Given the description of an element on the screen output the (x, y) to click on. 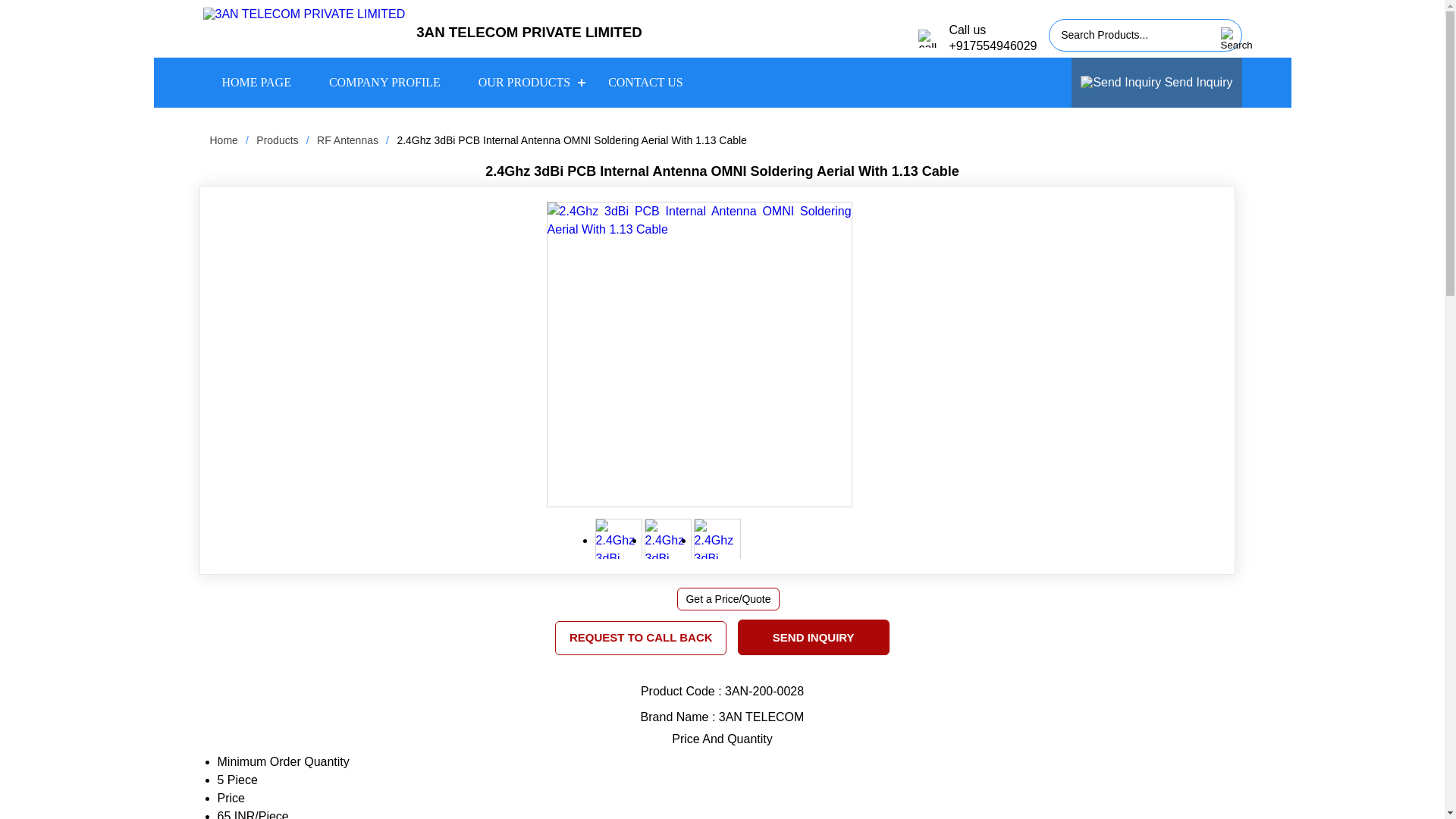
Get a Price/Quote Element type: text (727, 598)
Home Element type: text (223, 140)
REQUEST TO CALL BACK Element type: text (640, 637)
OUR PRODUCTS Element type: text (524, 82)
COMPANY PROFILE Element type: text (384, 82)
SEND INQUIRY Element type: text (813, 637)
Search Element type: hover (1226, 38)
RF Antennas Element type: text (347, 140)
Products Element type: text (277, 140)
HOME PAGE Element type: text (256, 82)
CONTACT US Element type: text (645, 82)
Send Inquiry Element type: text (1156, 82)
